Given the description of an element on the screen output the (x, y) to click on. 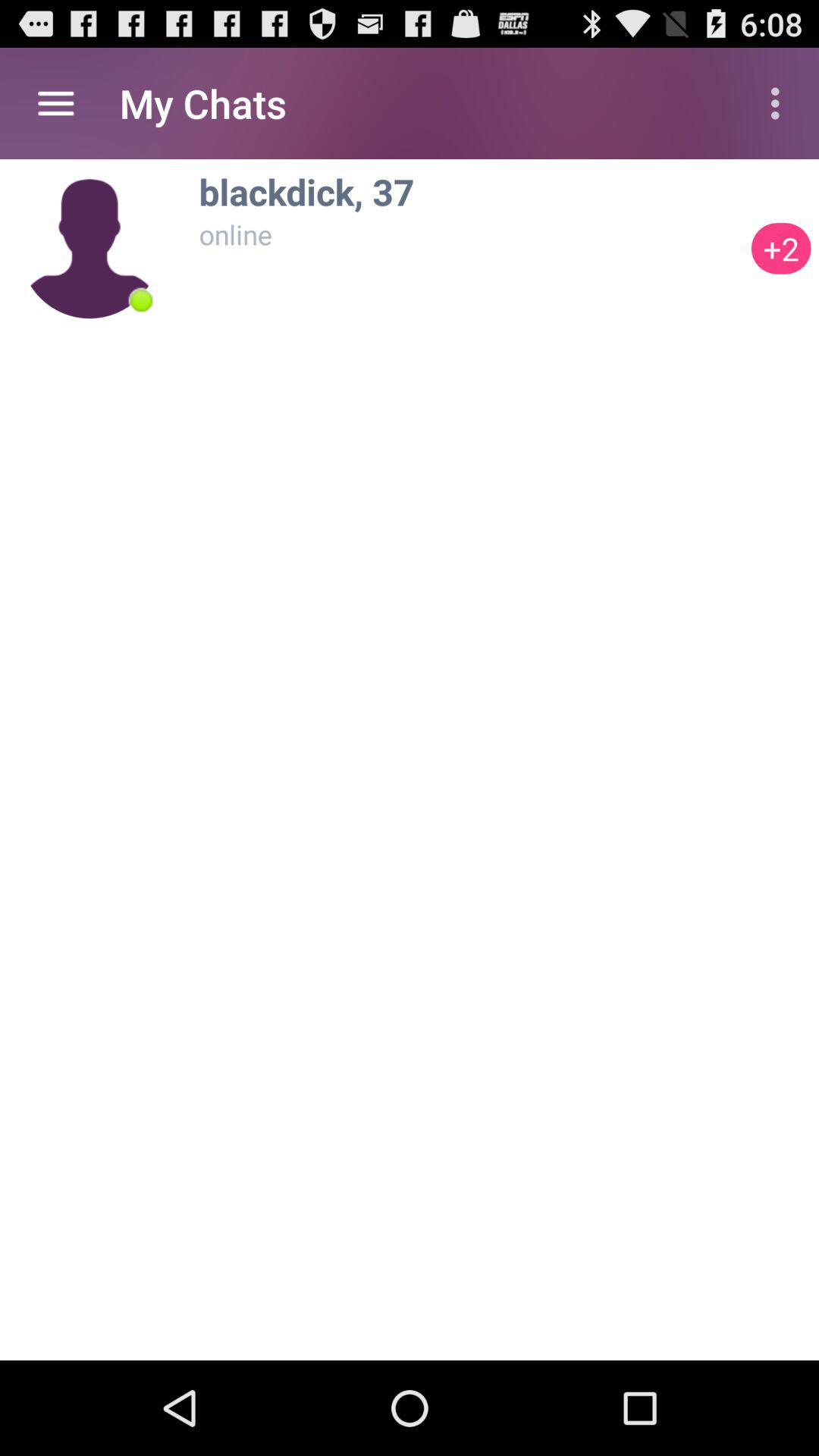
launch the app to the left of my chats item (55, 103)
